Given the description of an element on the screen output the (x, y) to click on. 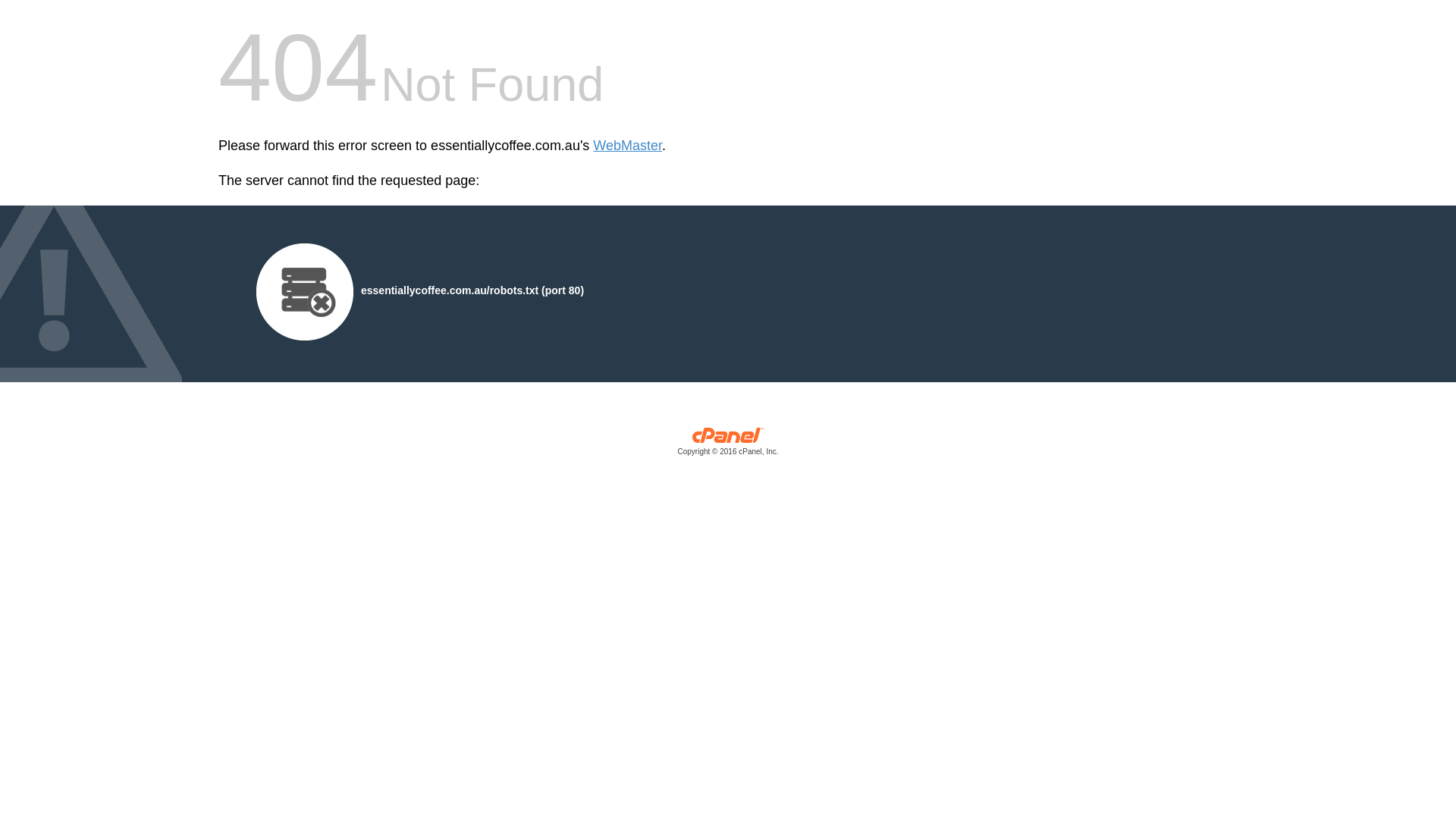
WebMaster Element type: text (627, 145)
